Given the description of an element on the screen output the (x, y) to click on. 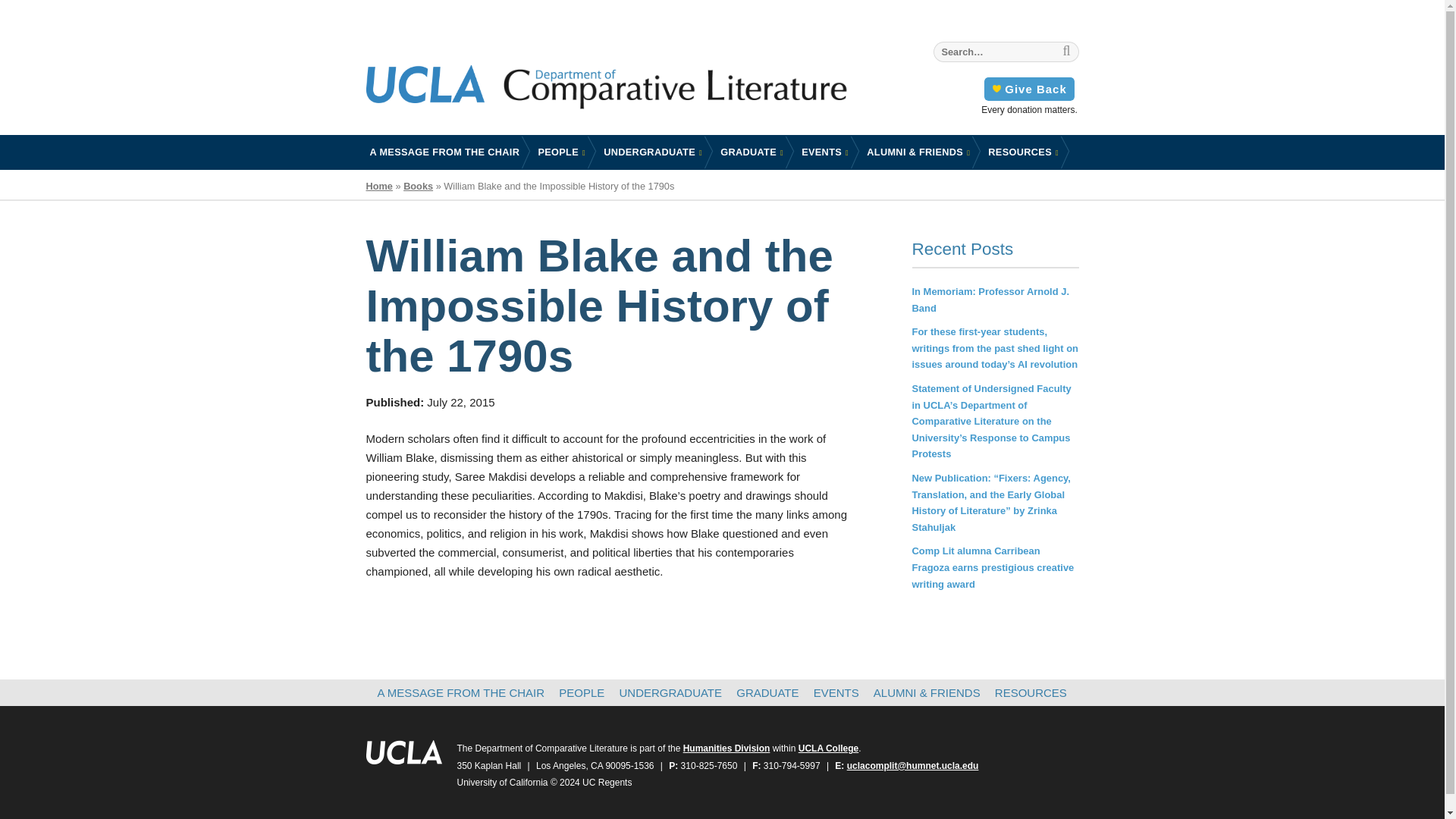
GRADUATE (751, 152)
EVENTS (825, 152)
PEOPLE (561, 152)
UNDERGRADUATE (652, 152)
Give Back (644, 91)
A MESSAGE FROM THE CHAIR (1029, 88)
Search for: (444, 151)
